Given the description of an element on the screen output the (x, y) to click on. 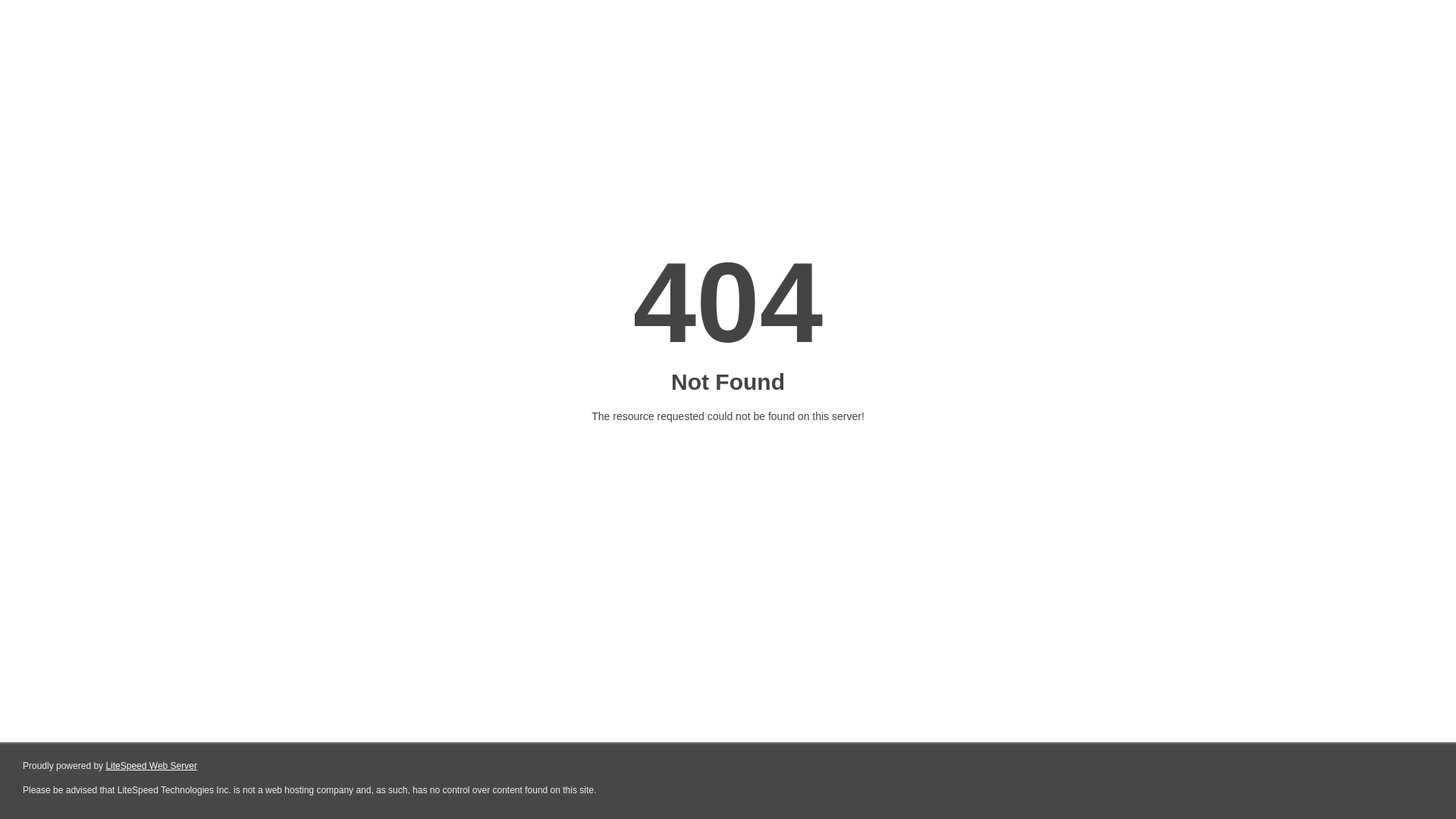
LiteSpeed Web Server Element type: text (151, 765)
